Given the description of an element on the screen output the (x, y) to click on. 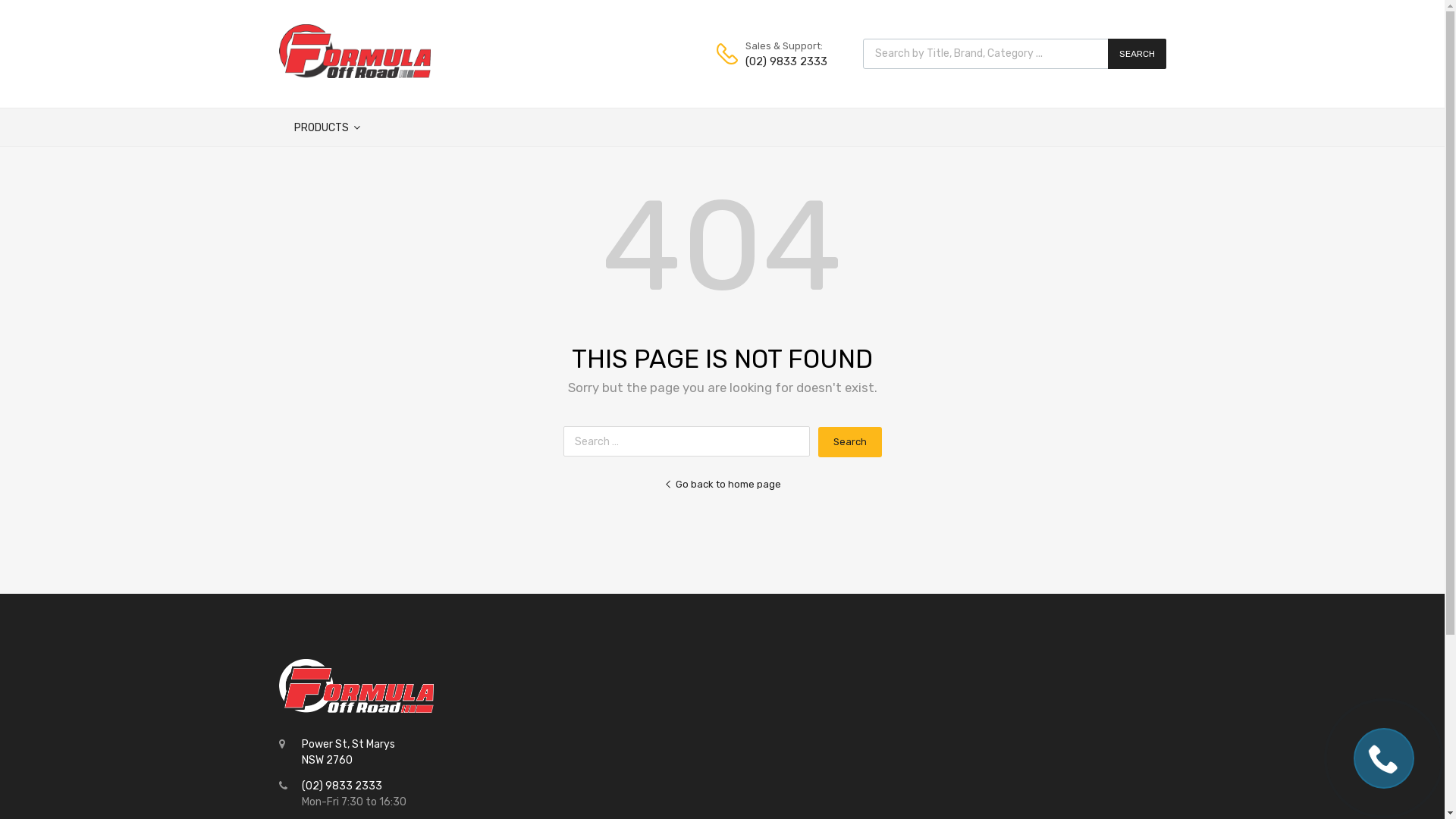
(02) 9833 2333 Element type: text (781, 61)
PRODUCTS Element type: text (327, 126)
Formula Offroad Element type: hover (354, 74)
SEARCH Element type: text (1136, 53)
Search Element type: text (849, 441)
Go back to home page Element type: text (722, 484)
